Given the description of an element on the screen output the (x, y) to click on. 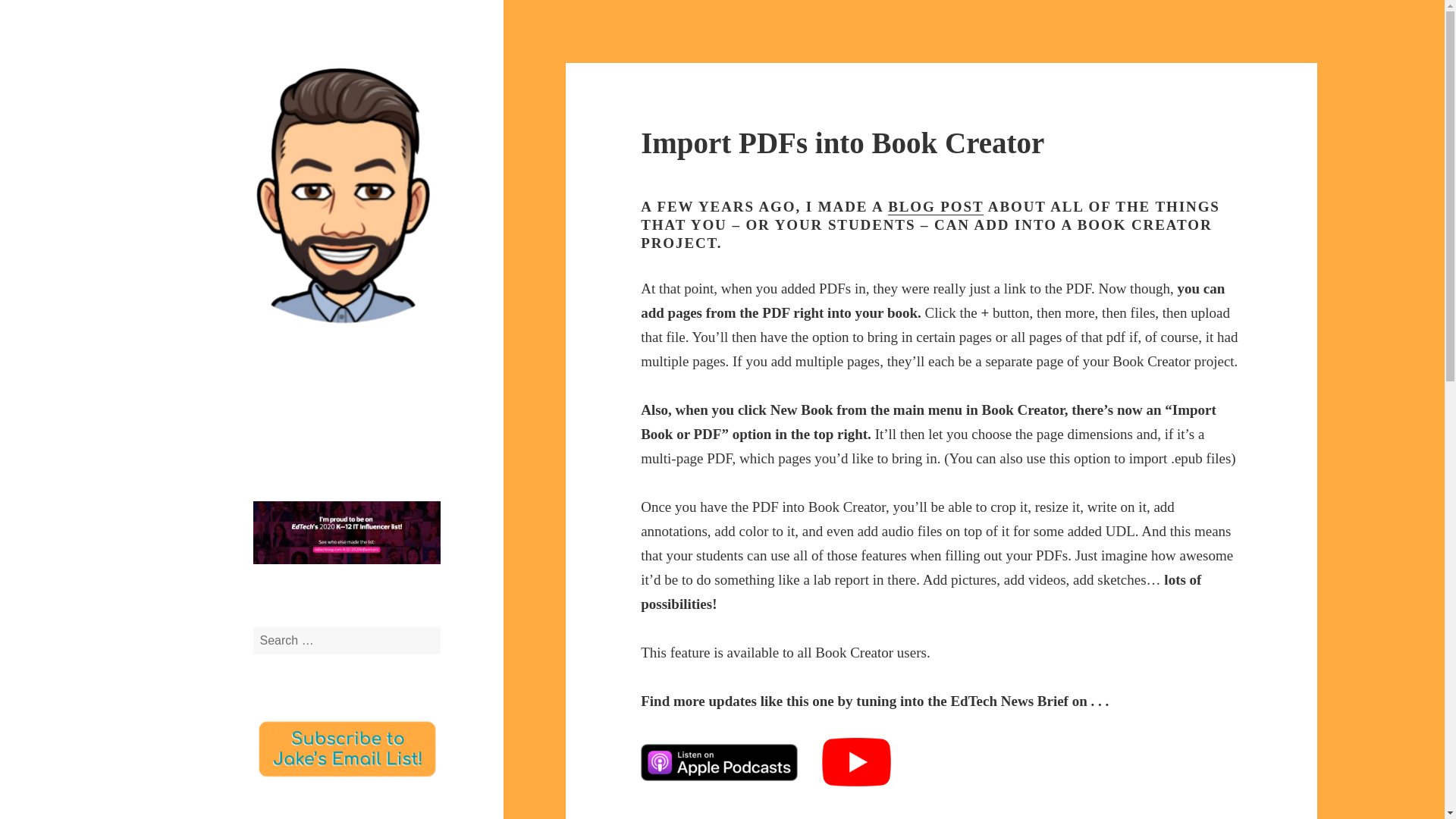
Jake Miller (305, 347)
BLOG POST (936, 207)
